Given the description of an element on the screen output the (x, y) to click on. 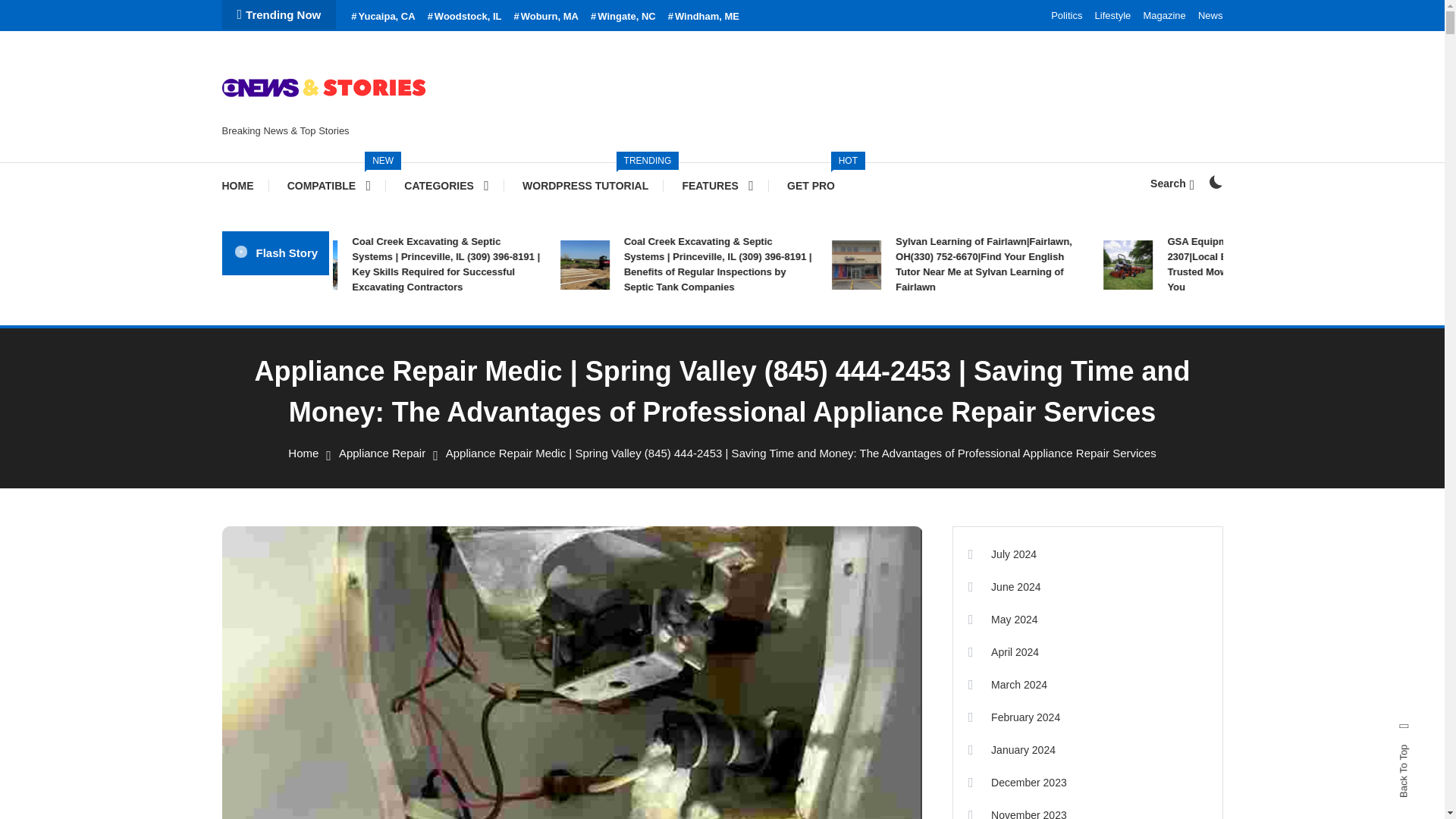
News (1210, 15)
Search (1171, 183)
Yucaipa, CA (382, 16)
Lifestyle (1112, 15)
Search (768, 434)
FEATURES (717, 185)
Wingate, NC (623, 16)
Magazine (328, 185)
CATEGORIES (1163, 15)
Woburn, MA (445, 185)
Woodstock, IL (584, 185)
Politics (810, 185)
